Given the description of an element on the screen output the (x, y) to click on. 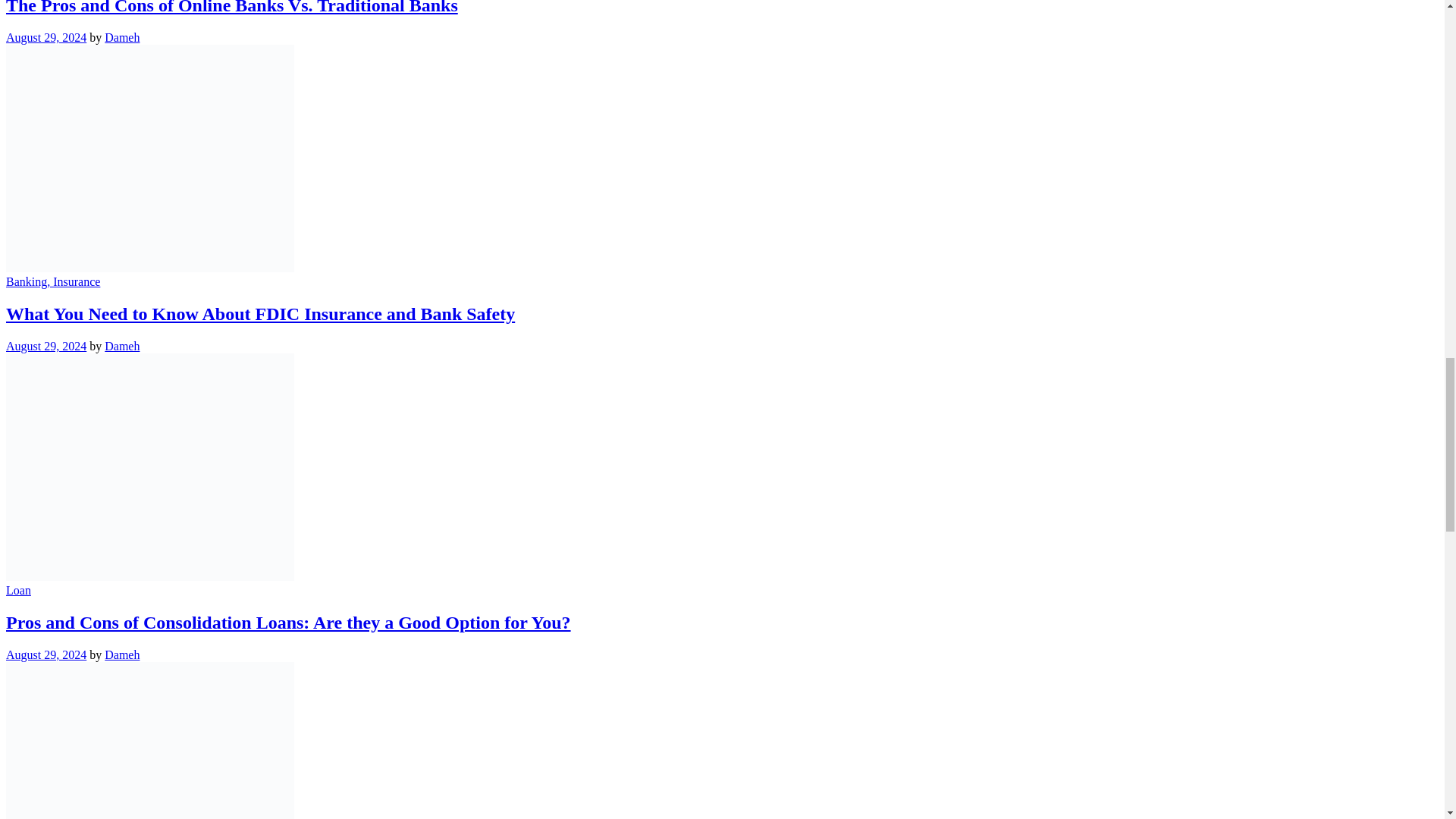
The Pros and Cons of Online Banks Vs. Traditional Banks (231, 7)
Banking (25, 281)
Loan (17, 590)
Dameh (121, 345)
What You Need to Know About FDIC Insurance and Bank Safety (260, 313)
August 29, 2024 (45, 37)
Dameh (121, 37)
, Insurance (73, 281)
August 29, 2024 (45, 345)
